Given the description of an element on the screen output the (x, y) to click on. 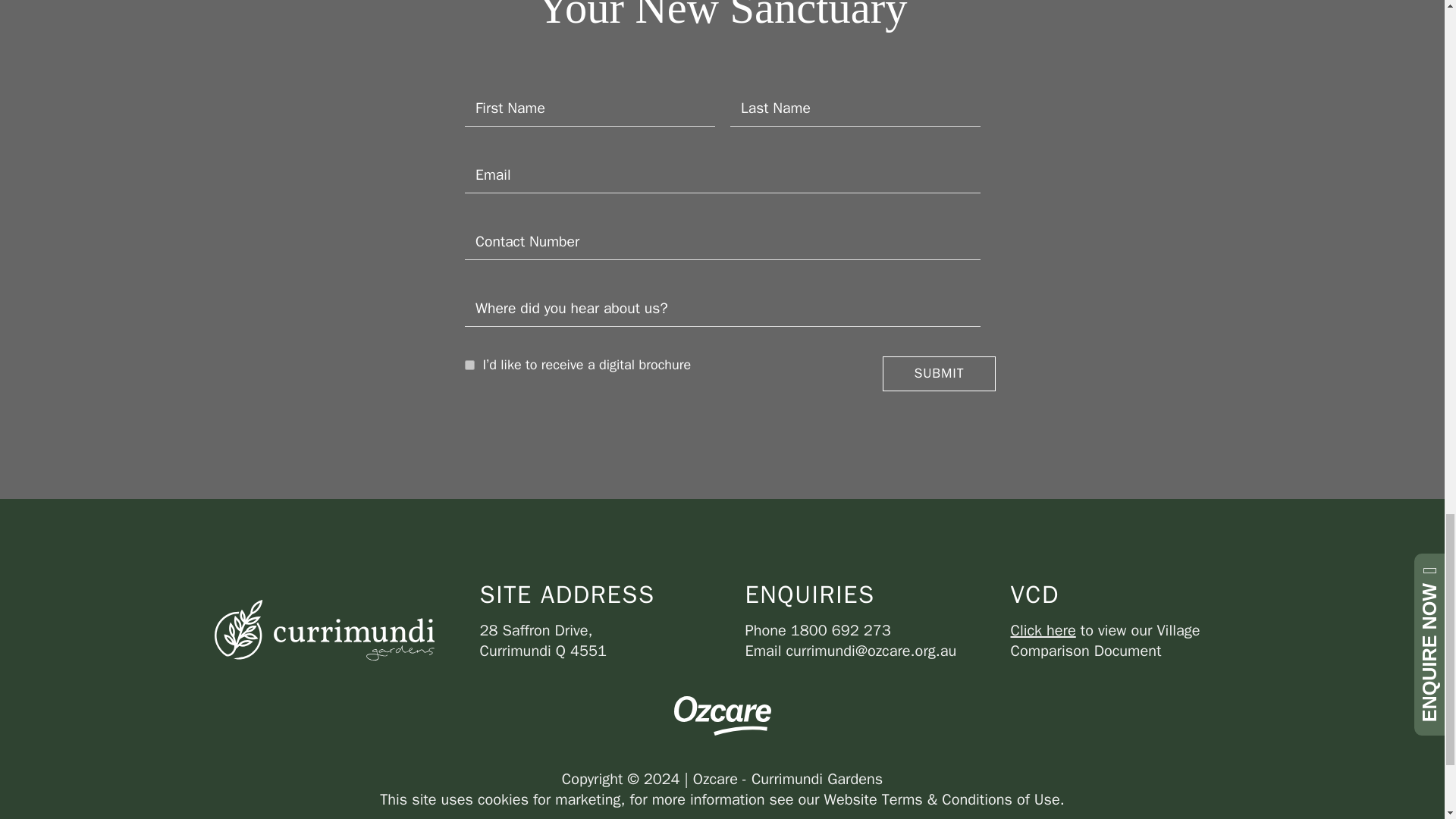
Submit (938, 373)
Click here (1042, 629)
Submit (938, 373)
1800 692 273 (840, 629)
